Given the description of an element on the screen output the (x, y) to click on. 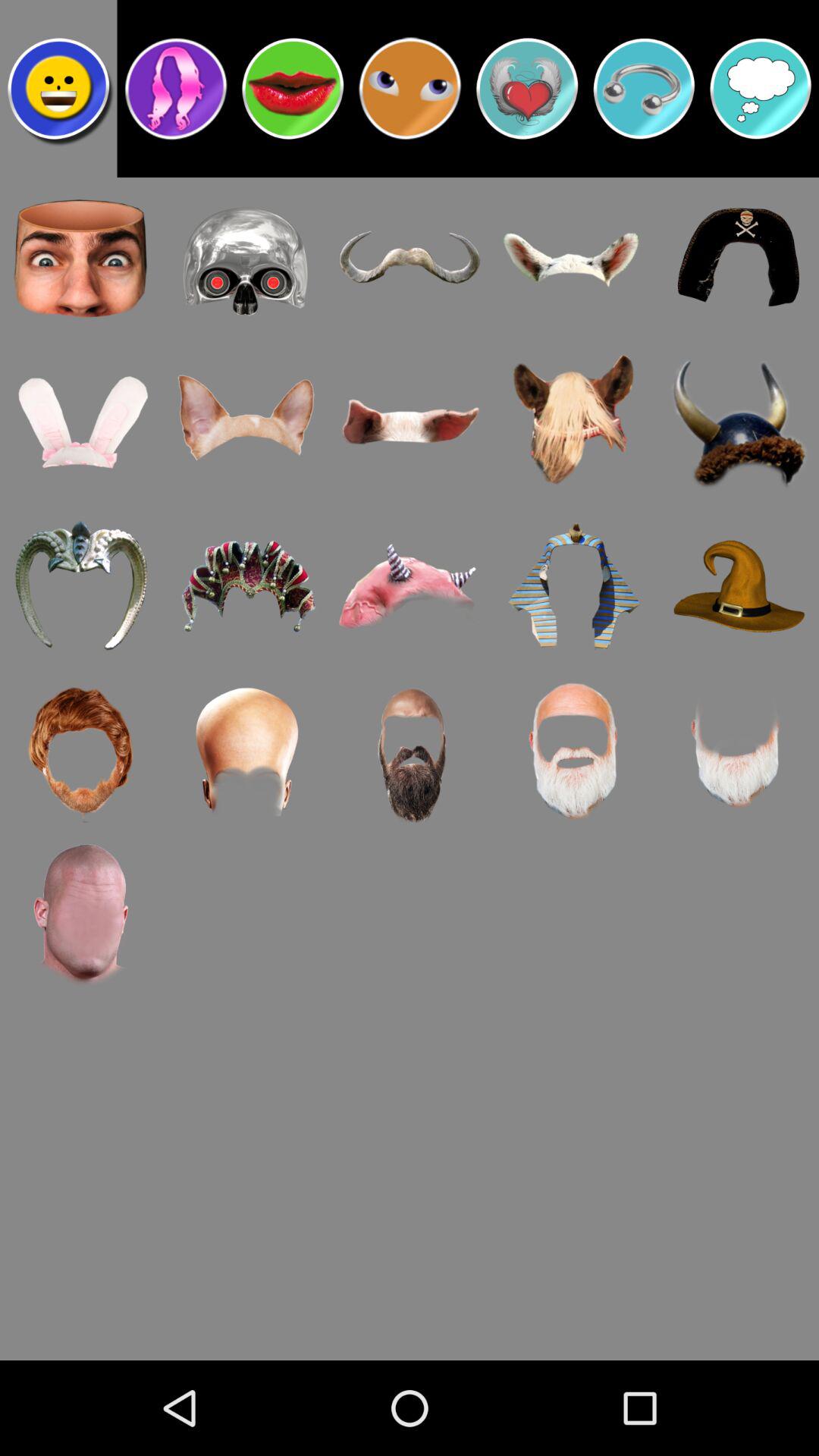
lips tools (292, 88)
